Given the description of an element on the screen output the (x, y) to click on. 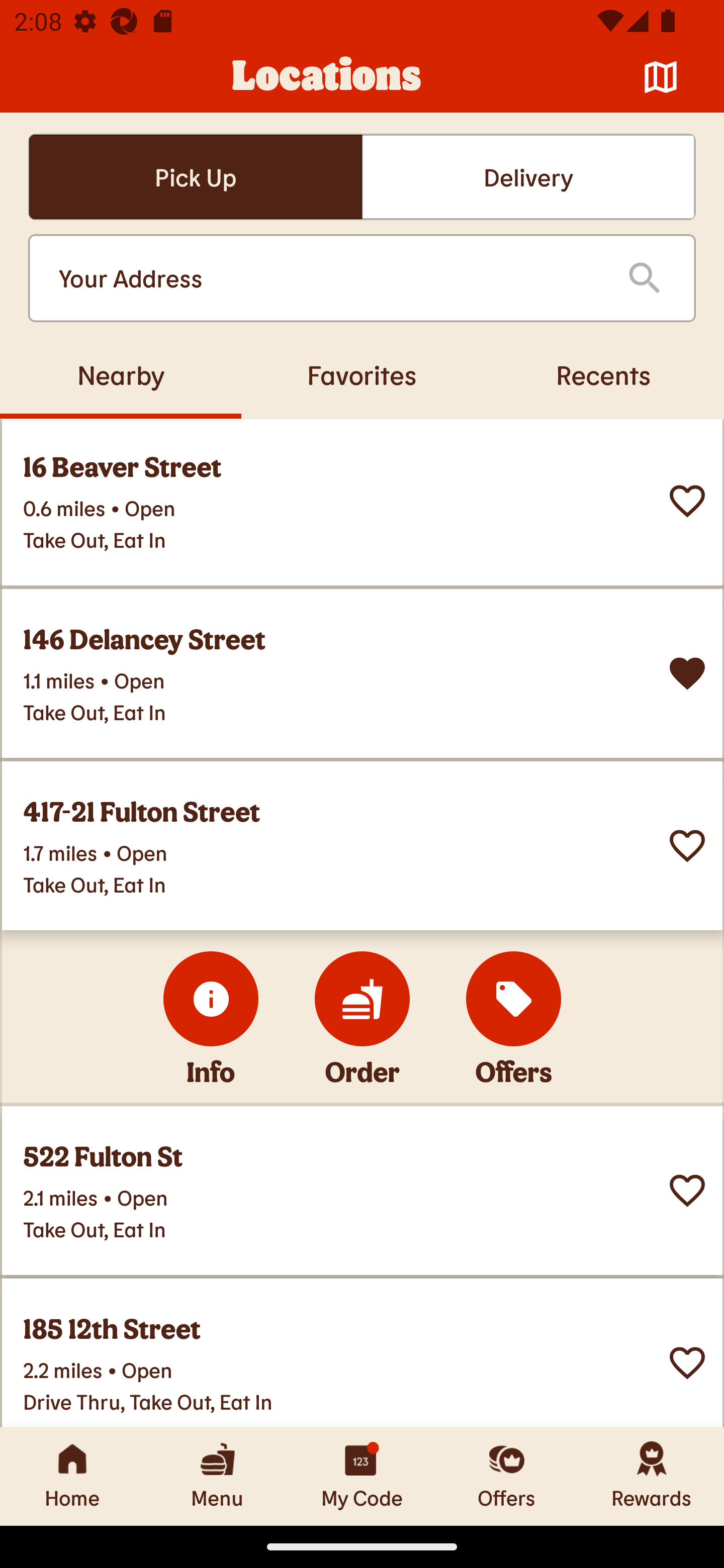
Map 󰦂 (660, 77)
Locations (326, 77)
Pick UpSelected Pick UpSelected Pick Up (195, 176)
Delivery Delivery Delivery (528, 176)
Your Address (327, 277)
Nearby (120, 374)
Favorites (361, 374)
Recents (603, 374)
Set this restaurant as a favorite  (687, 500)
Remove from Favorites?  (687, 673)
Set this restaurant as a favorite  (687, 845)
Info  (210, 998)
Order (361, 998)
Offers  (513, 998)
Set this restaurant as a favorite  (687, 1190)
Set this restaurant as a favorite  (687, 1363)
Home (72, 1475)
Menu (216, 1475)
My Code (361, 1475)
Offers (506, 1475)
Rewards (651, 1475)
